Given the description of an element on the screen output the (x, y) to click on. 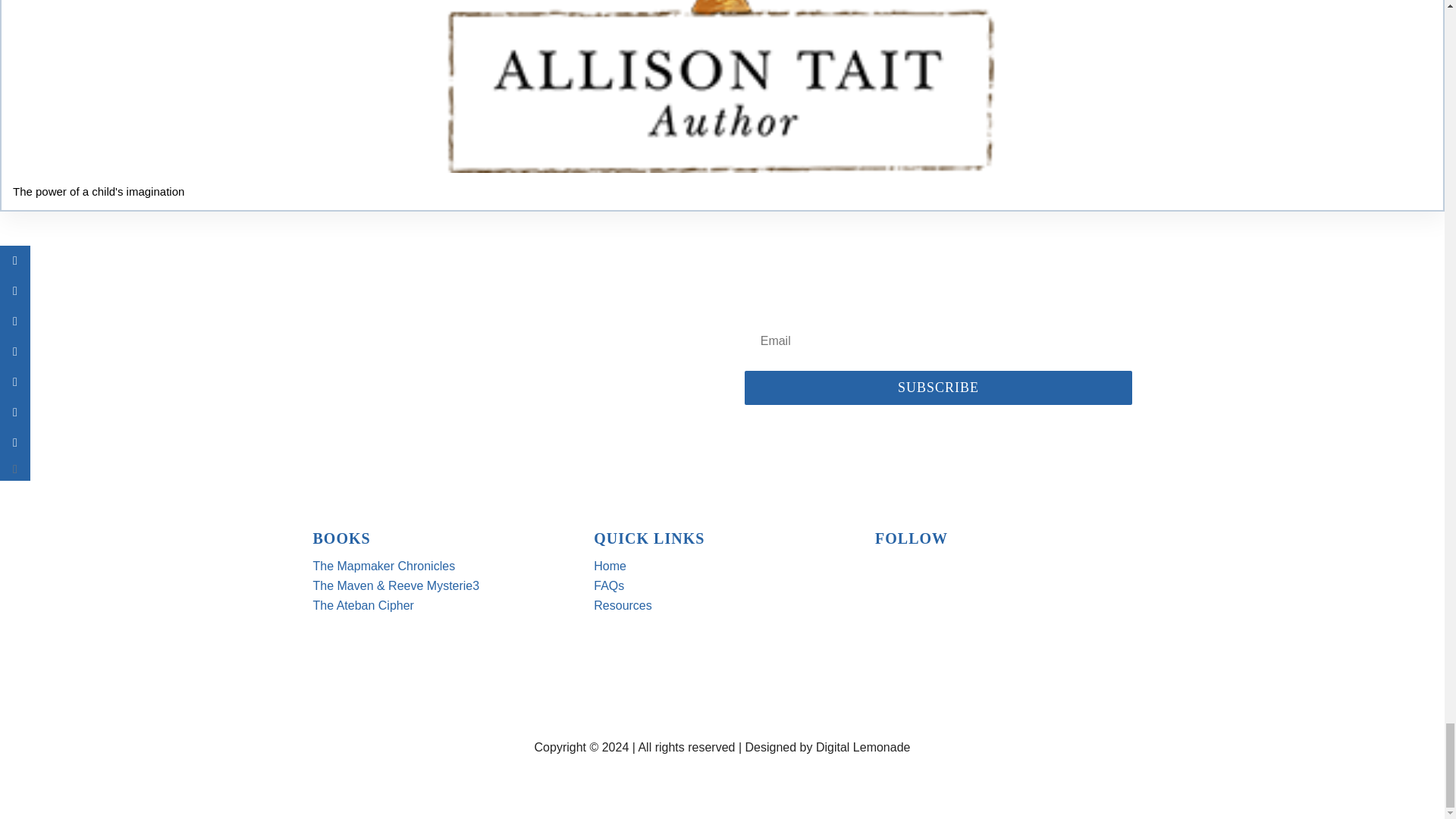
Follow on Instagram (947, 581)
Follow on Facebook (887, 581)
Follow on X (917, 581)
